Given the description of an element on the screen output the (x, y) to click on. 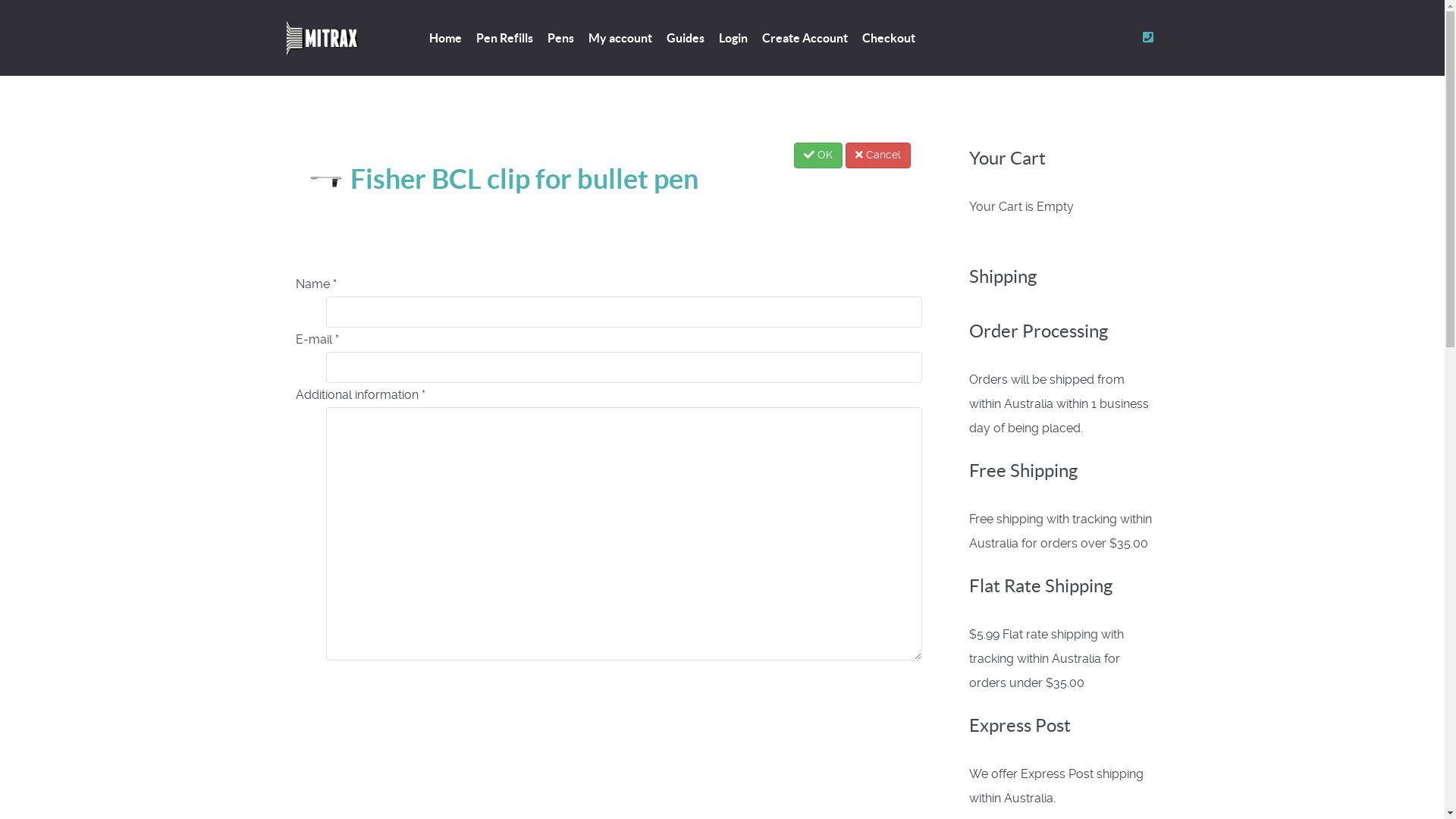
Home Element type: text (445, 39)
OK Element type: text (817, 155)
Fisher BCL clip for bullet pen Element type: text (501, 178)
Guides Element type: text (684, 39)
My account Element type: text (620, 39)
Login Element type: text (732, 39)
Pens Element type: text (560, 39)
Pen Refills Element type: text (504, 39)
Cancel Element type: text (877, 155)
Checkout Element type: text (887, 39)
Create Account Element type: text (804, 39)
